Given the description of an element on the screen output the (x, y) to click on. 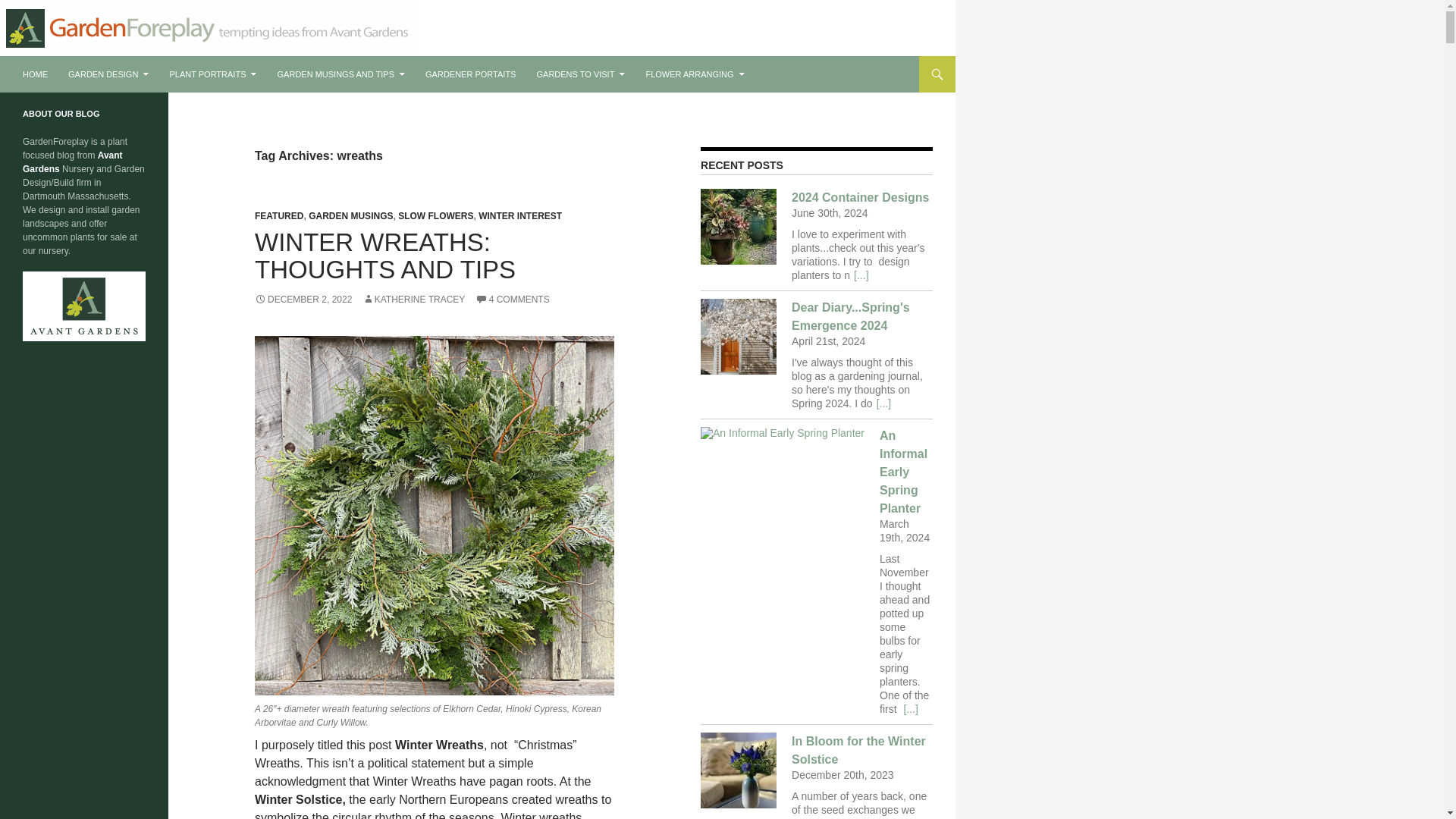
Garden Foreplay (77, 73)
GARDEN MUSINGS (350, 215)
WINTER INTEREST (520, 215)
KATHERINE TRACEY (413, 299)
HOME (34, 74)
GARDENS TO VISIT (580, 74)
GARDEN DESIGN (108, 74)
WINTER WREATHS: THOUGHTS AND TIPS (384, 255)
PLANT PORTRAITS (212, 74)
FEATURED (278, 215)
FLOWER ARRANGING (694, 74)
GARDENER PORTAITS (470, 74)
GARDEN MUSINGS AND TIPS (340, 74)
DECEMBER 2, 2022 (303, 299)
